Given the description of an element on the screen output the (x, y) to click on. 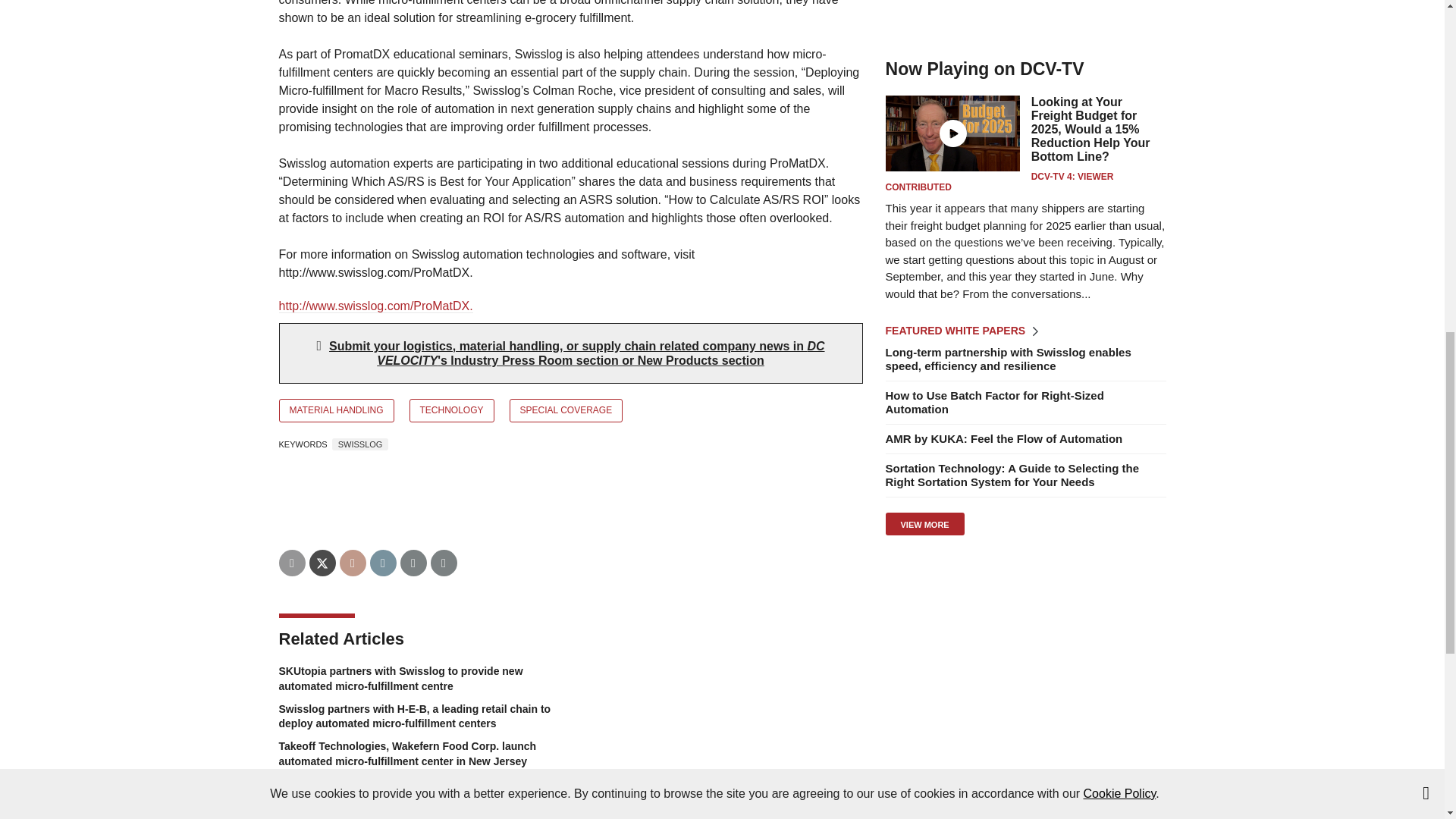
3rd party ad content (1024, 652)
3rd party ad content (1024, 18)
